Given the description of an element on the screen output the (x, y) to click on. 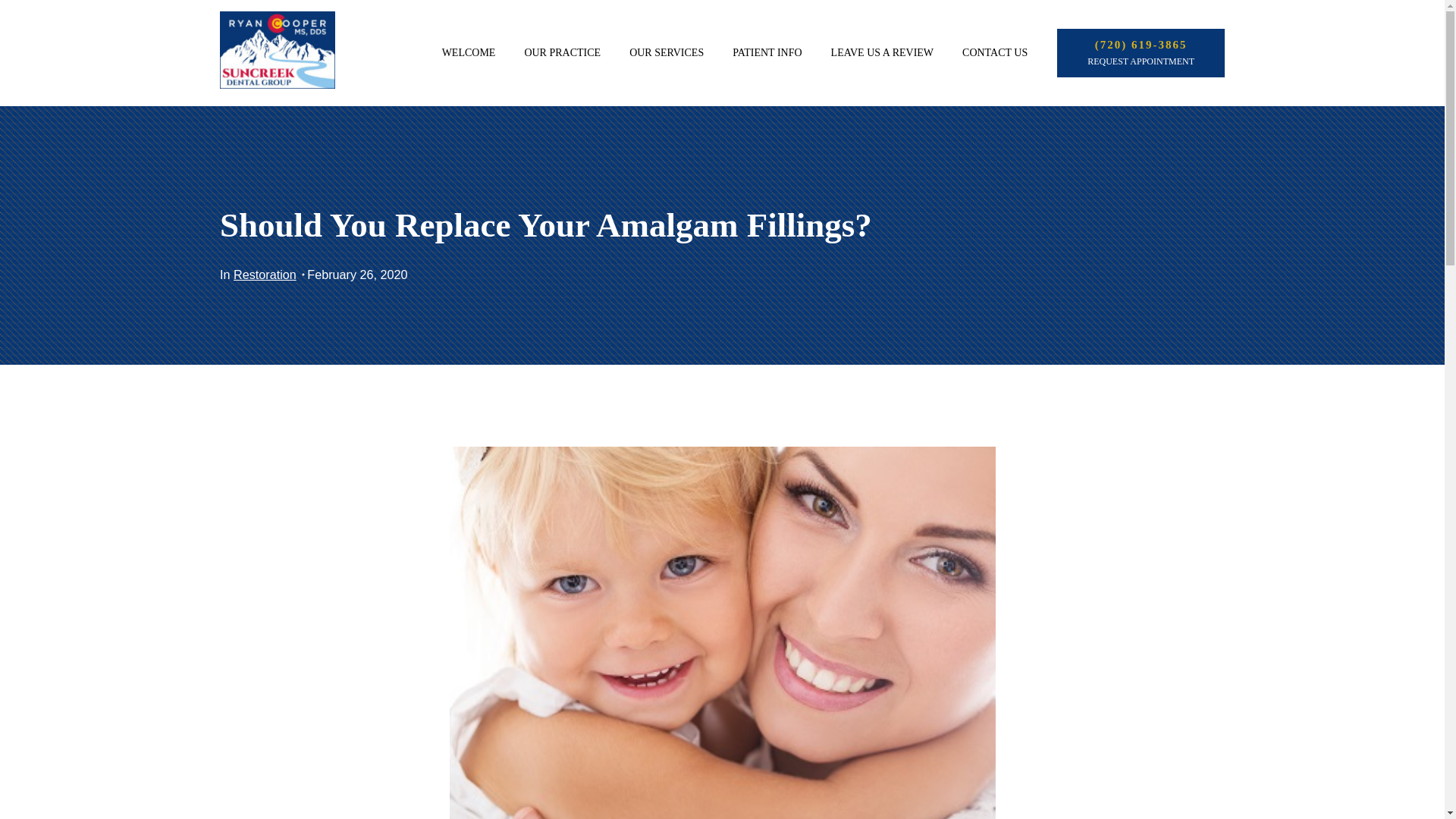
OUR SERVICES (665, 52)
WELCOME (469, 52)
OUR PRACTICE (561, 52)
